Given the description of an element on the screen output the (x, y) to click on. 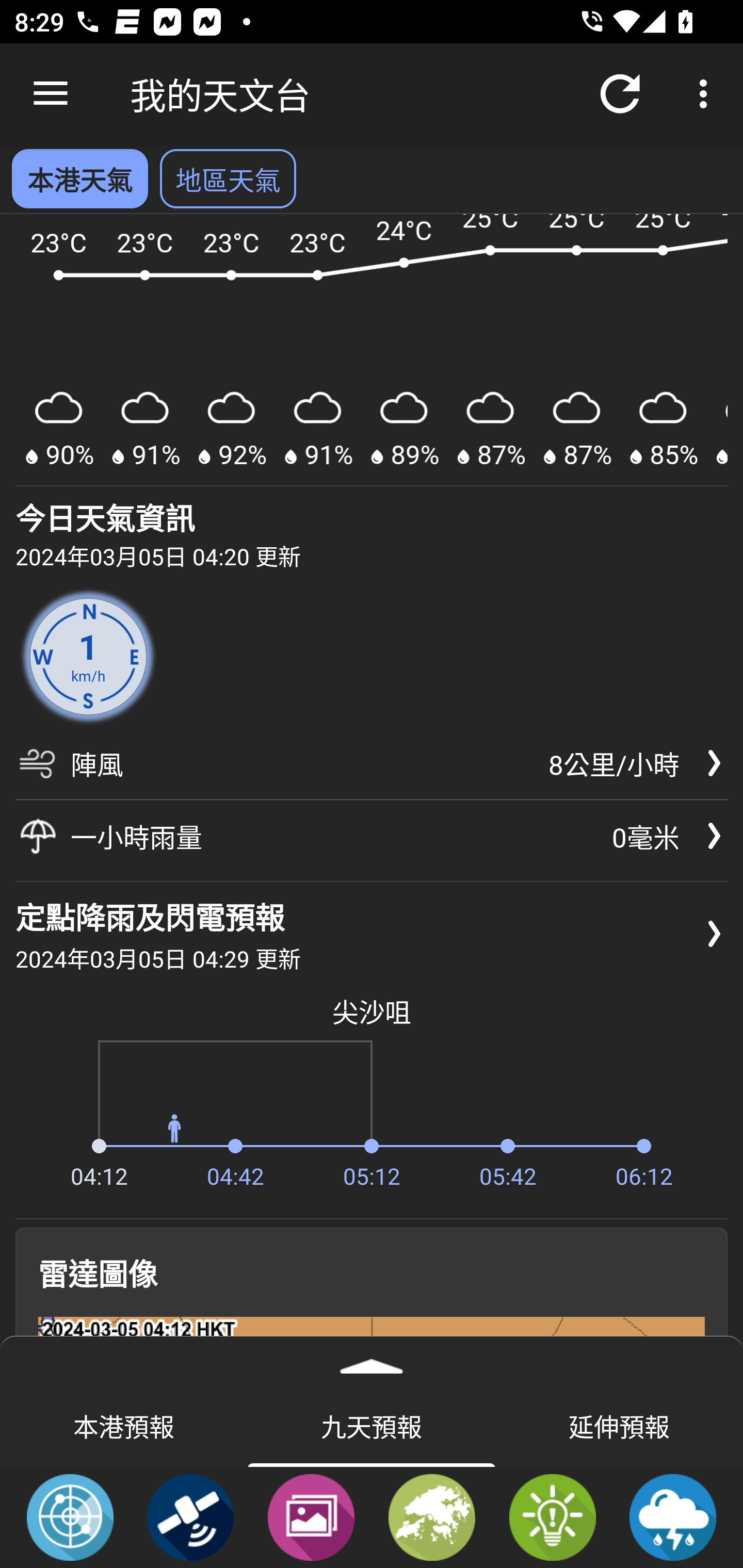
向上瀏覽 (50, 93)
重新整理 (619, 93)
更多選項 (706, 93)
本港天氣 已選擇 本港天氣 (79, 178)
地區天氣 選擇 地區天氣 (227, 178)
九天自動天氣預報 圖片
輕按進入內頁，即可了解詳細資料。 ARWF (371, 350)
風向不定
風速每小時1公里 1 km/h (88, 656)
陣風 8公里/小時 陣風 8公里/小時 (371, 770)
一小時雨量 0毫米 一小時雨量 0毫米 (371, 836)
展開 (371, 1358)
本港預報 (123, 1424)
延伸預報 (619, 1424)
雷達圖像 (69, 1516)
衛星圖像 (190, 1516)
天氣照片 (310, 1516)
分區天氣 (431, 1516)
天氣提示 (551, 1516)
定點降雨及閃電預報 (672, 1516)
